Given the description of an element on the screen output the (x, y) to click on. 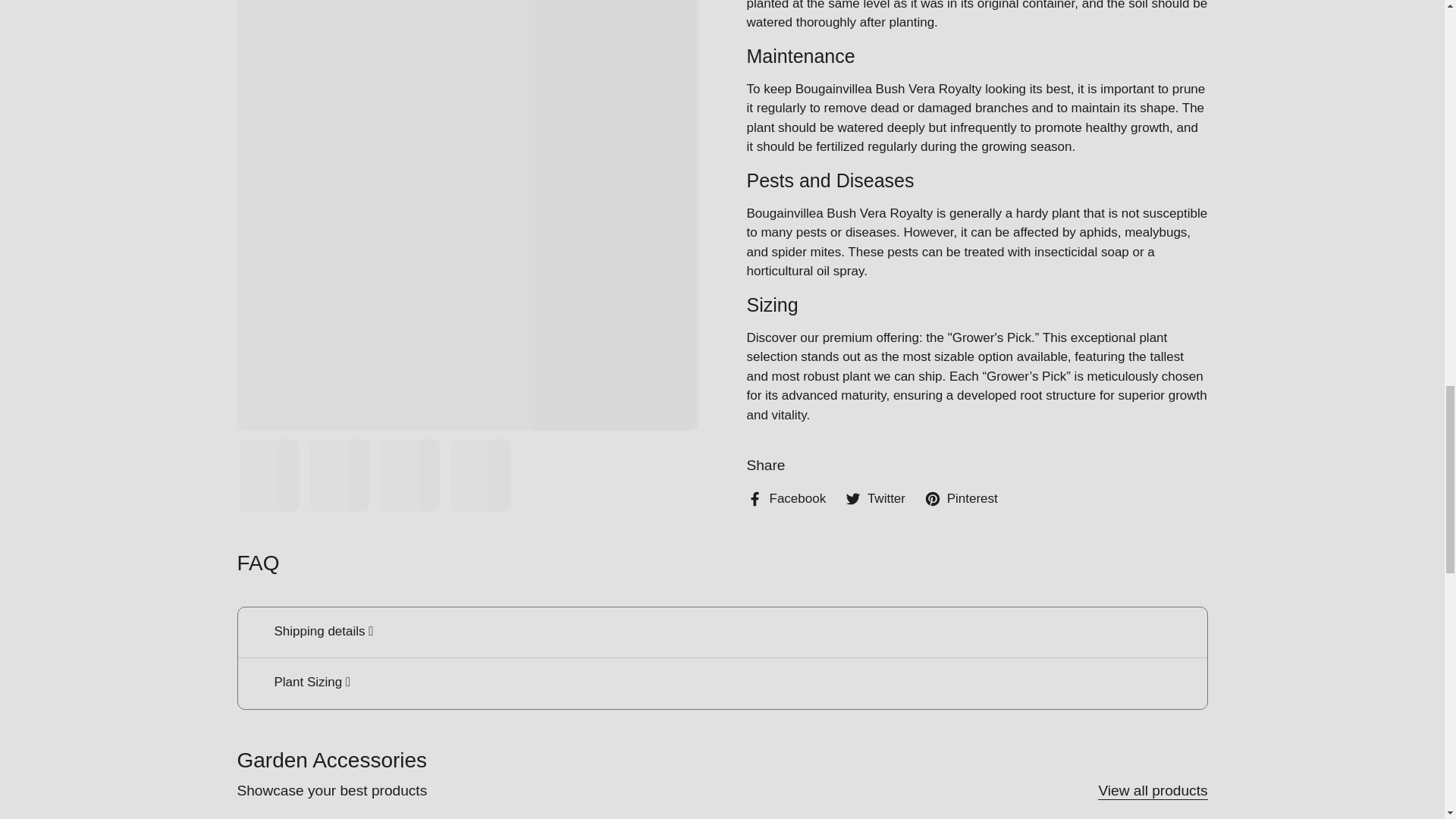
Share on pinterest (960, 498)
Share on twitter (874, 498)
Share on facebook (785, 498)
